Given the description of an element on the screen output the (x, y) to click on. 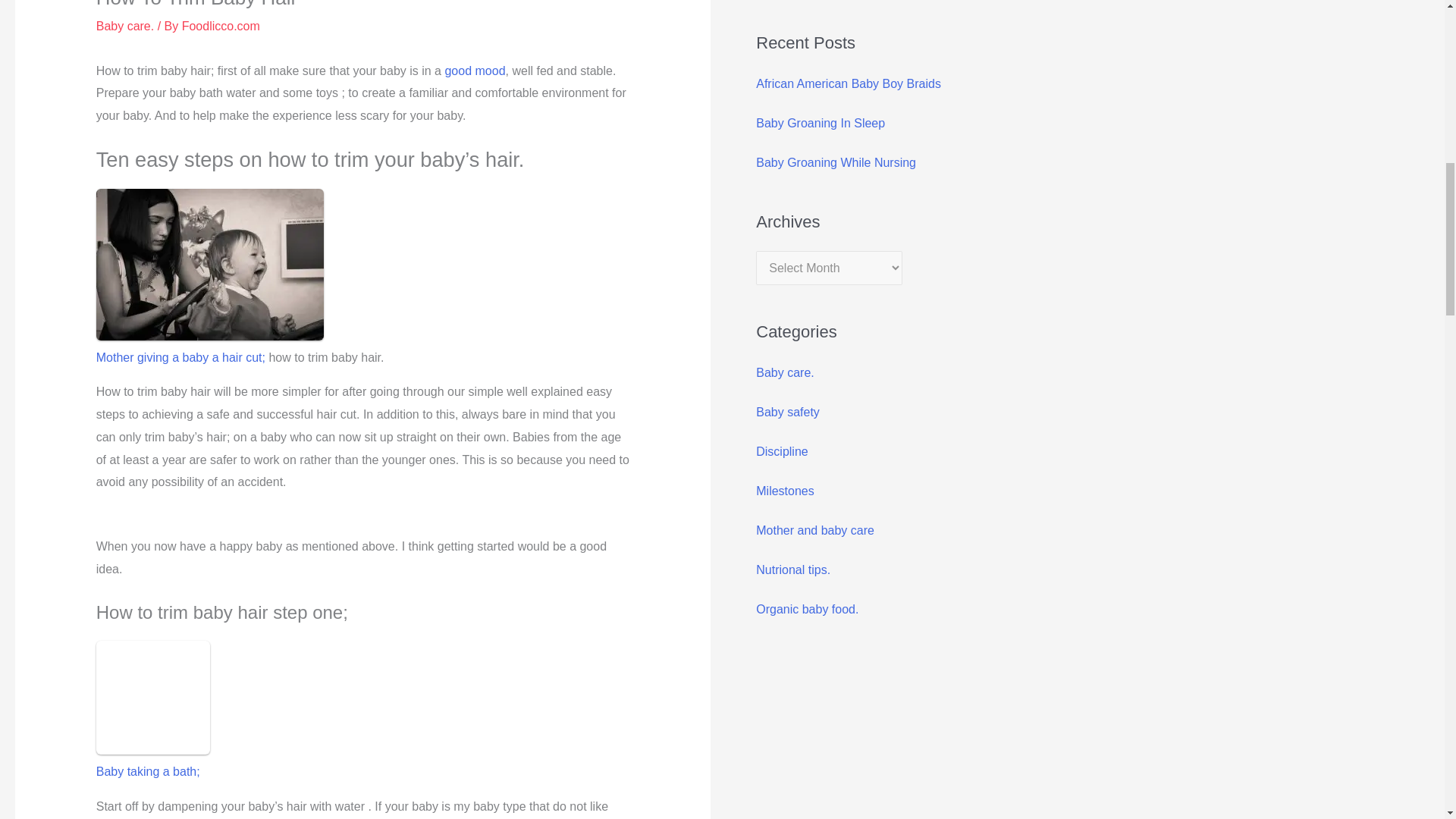
Mother giving a baby a hair cut; (182, 357)
good mood (474, 70)
Baby care. (125, 25)
Search (1411, 2)
Search (1411, 2)
Foodlicco.com (221, 25)
Baby taking a bath; (148, 771)
View all posts by Foodlicco.com (221, 25)
